Given the description of an element on the screen output the (x, y) to click on. 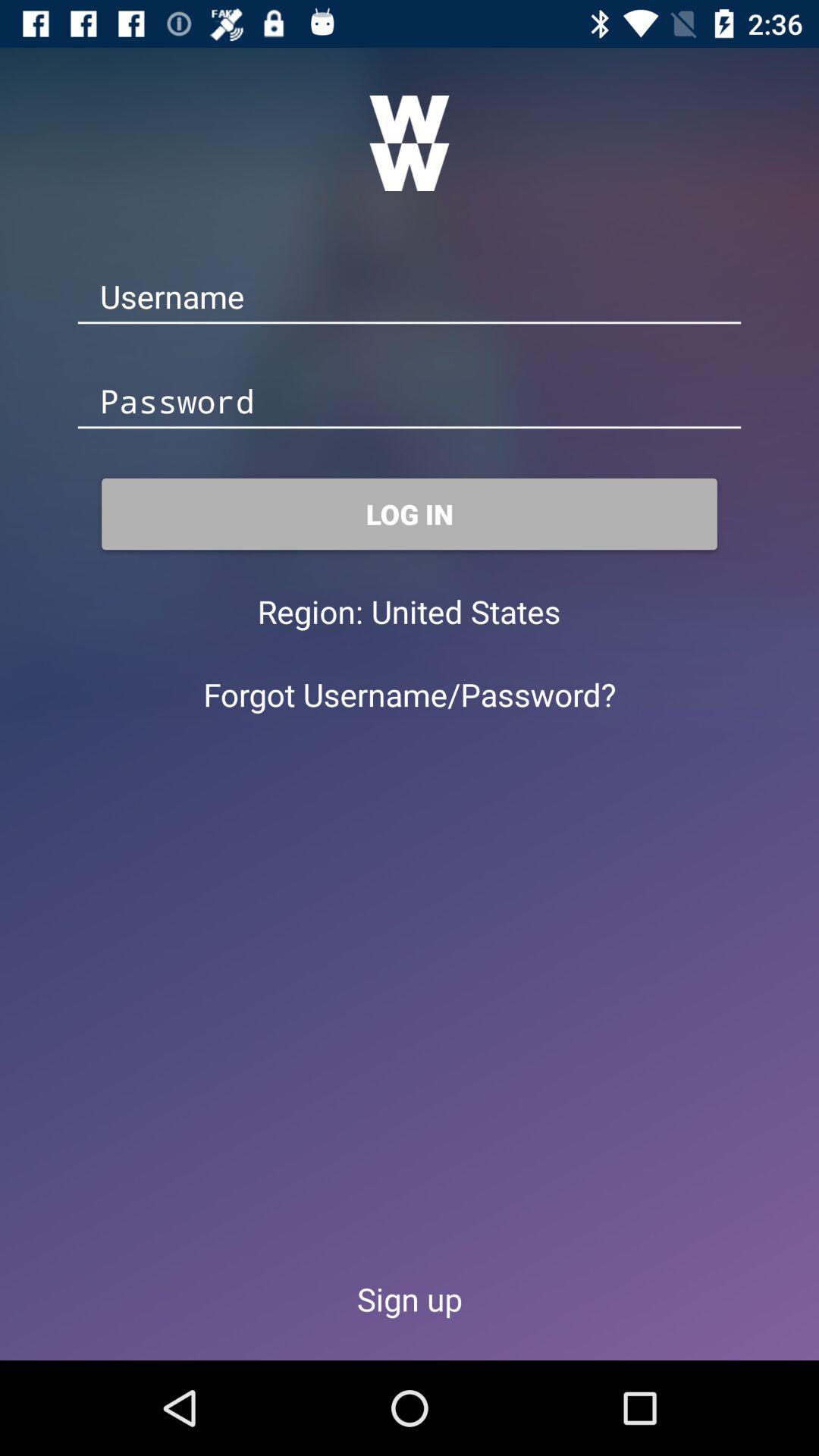
turn off log in icon (409, 513)
